Given the description of an element on the screen output the (x, y) to click on. 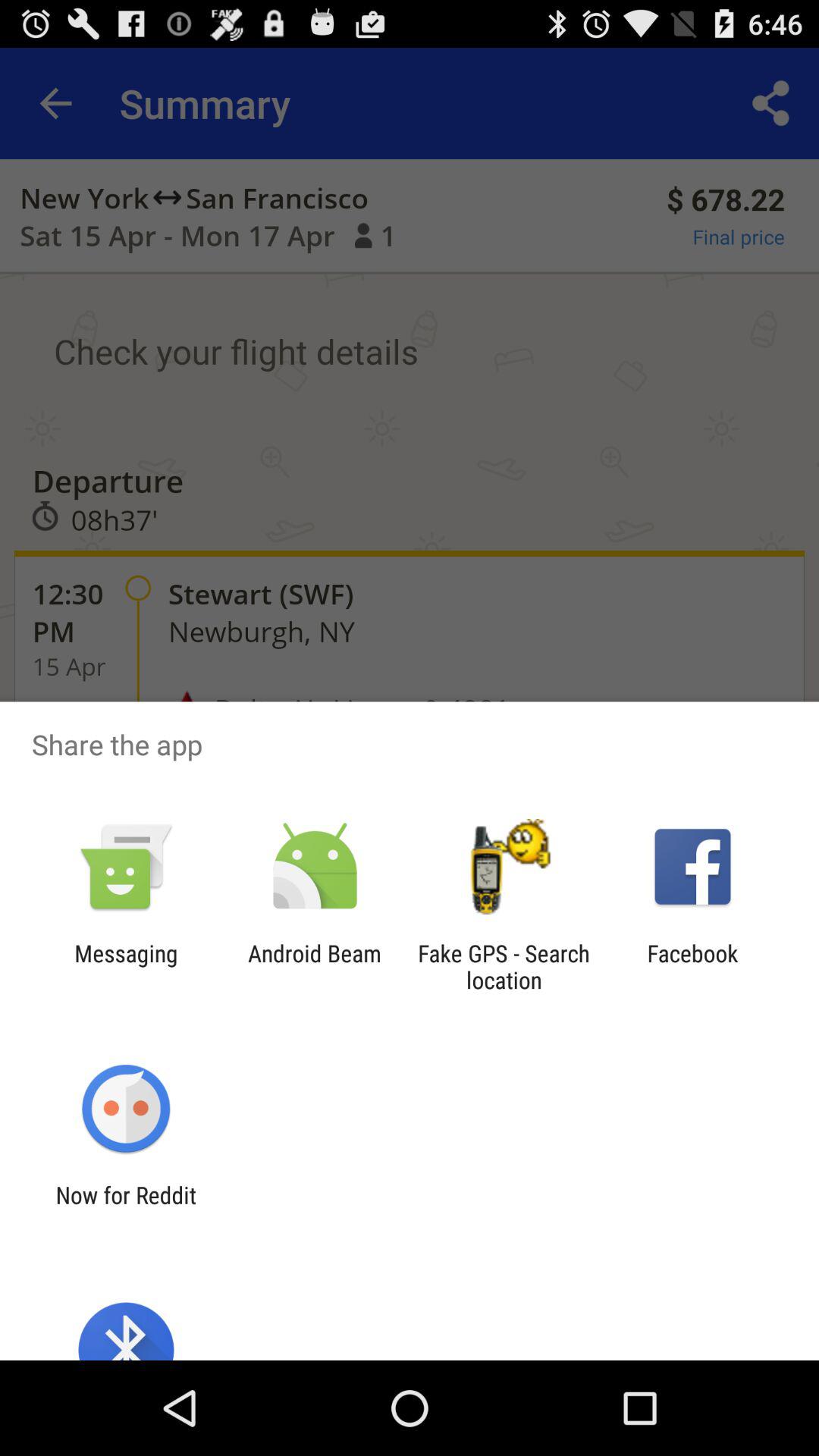
choose icon next to the fake gps search item (692, 966)
